Given the description of an element on the screen output the (x, y) to click on. 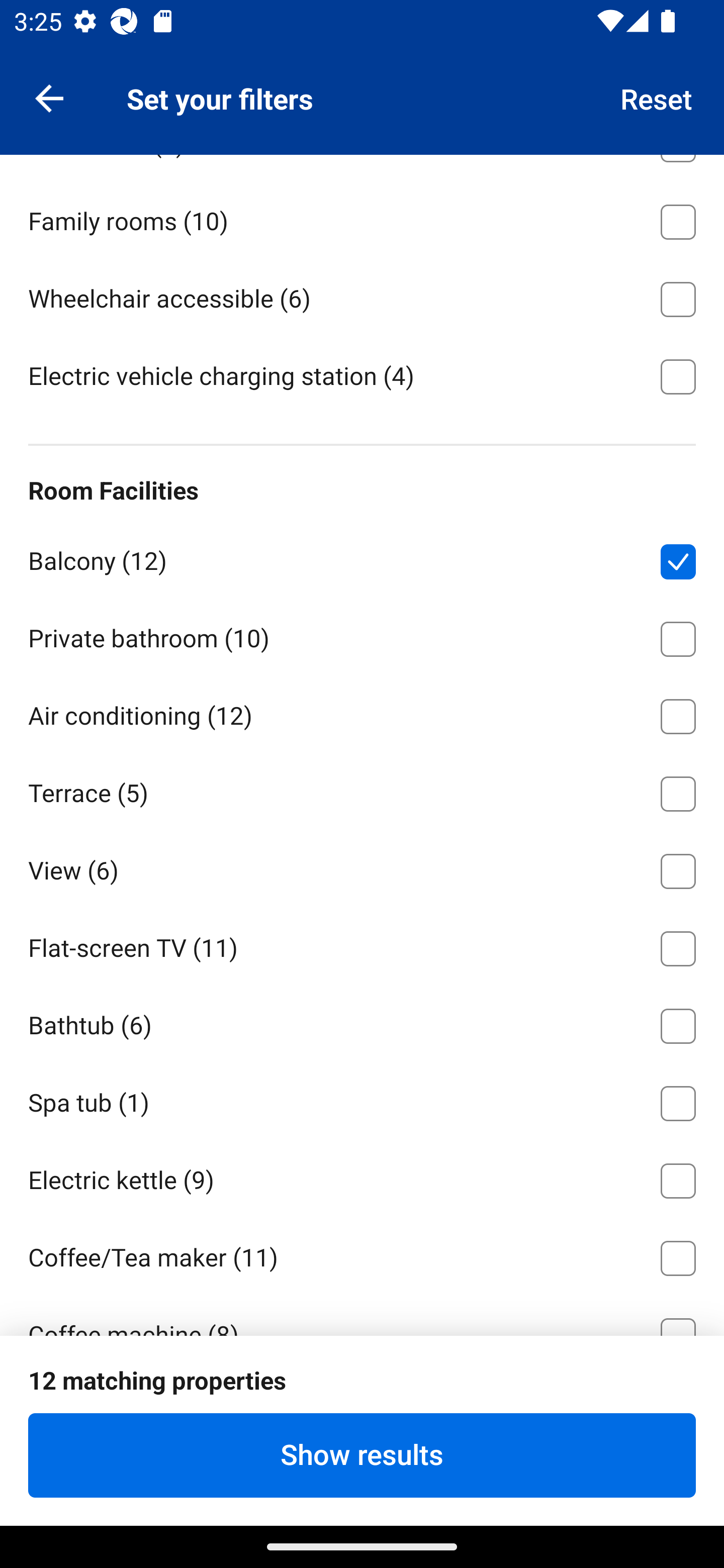
Navigate up (49, 97)
Reset (656, 97)
Family rooms ⁦(10) (361, 218)
Wheelchair accessible ⁦(6) (361, 295)
Electric vehicle charging station ⁦(4) (361, 374)
Balcony ⁦(12) (361, 558)
Private bathroom ⁦(10) (361, 635)
Air conditioning ⁦(12) (361, 712)
Terrace ⁦(5) (361, 790)
View ⁦(6) (361, 867)
Flat-screen TV ⁦(11) (361, 945)
Bathtub ⁦(6) (361, 1022)
Spa tub ⁦(1) (361, 1099)
Electric kettle ⁦(9) (361, 1177)
Coffee/Tea maker ⁦(11) (361, 1254)
Show results (361, 1454)
